Given the description of an element on the screen output the (x, y) to click on. 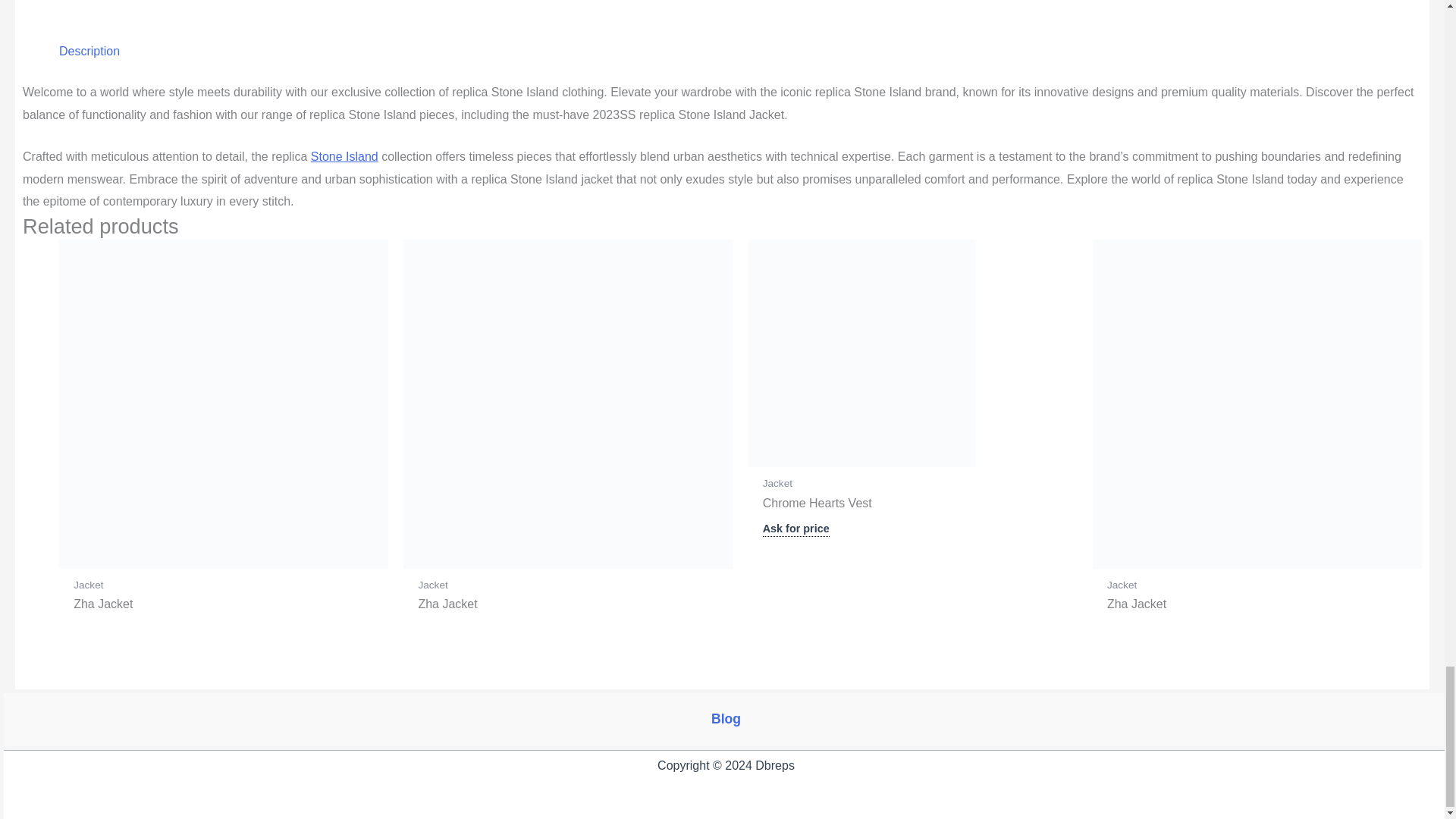
Description (89, 51)
Stone Island (344, 155)
Zha Jacket (224, 604)
Stone Island (344, 155)
